Given the description of an element on the screen output the (x, y) to click on. 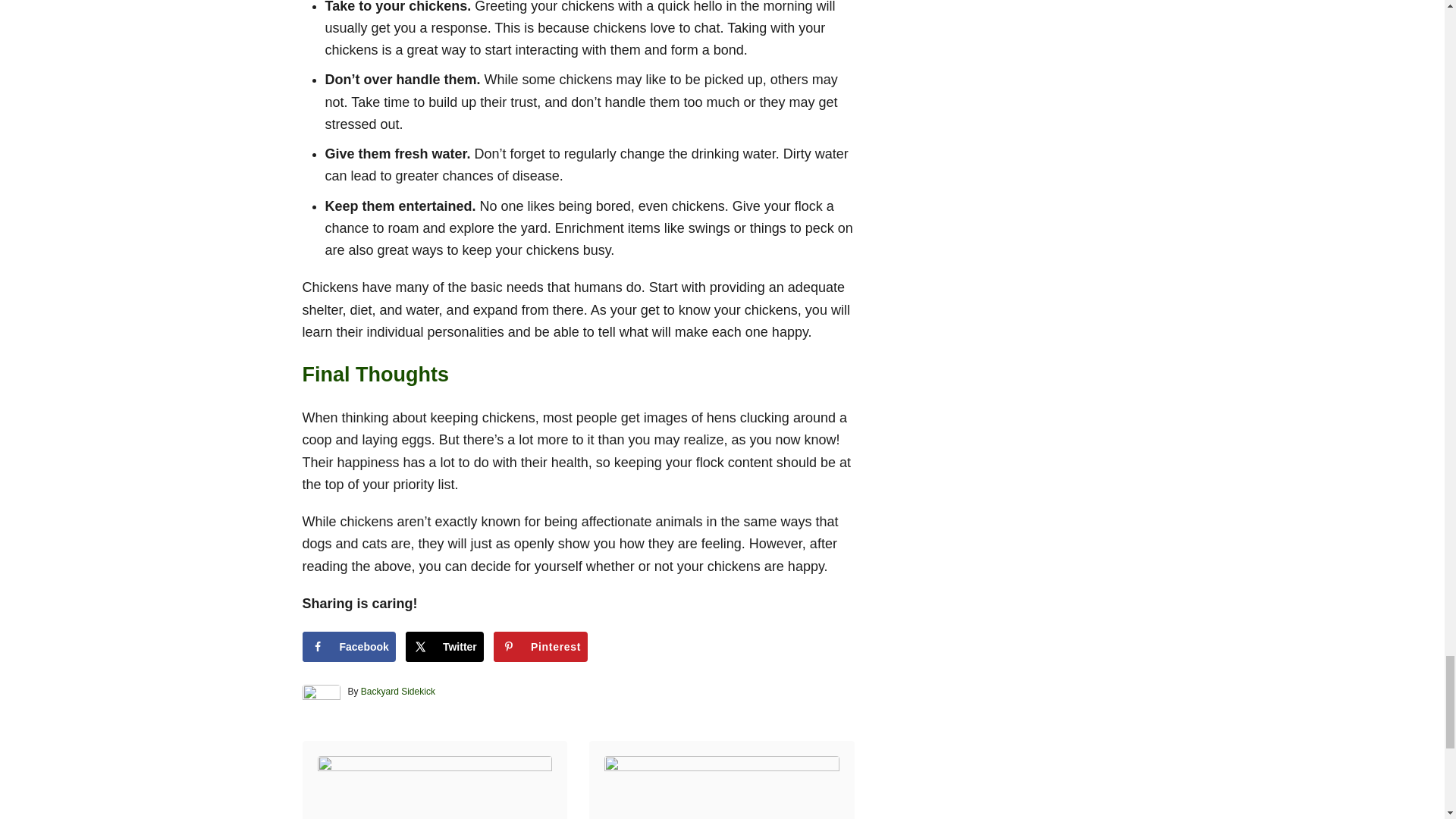
Share on X (444, 646)
Share on Facebook (347, 646)
Save to Pinterest (540, 646)
